Given the description of an element on the screen output the (x, y) to click on. 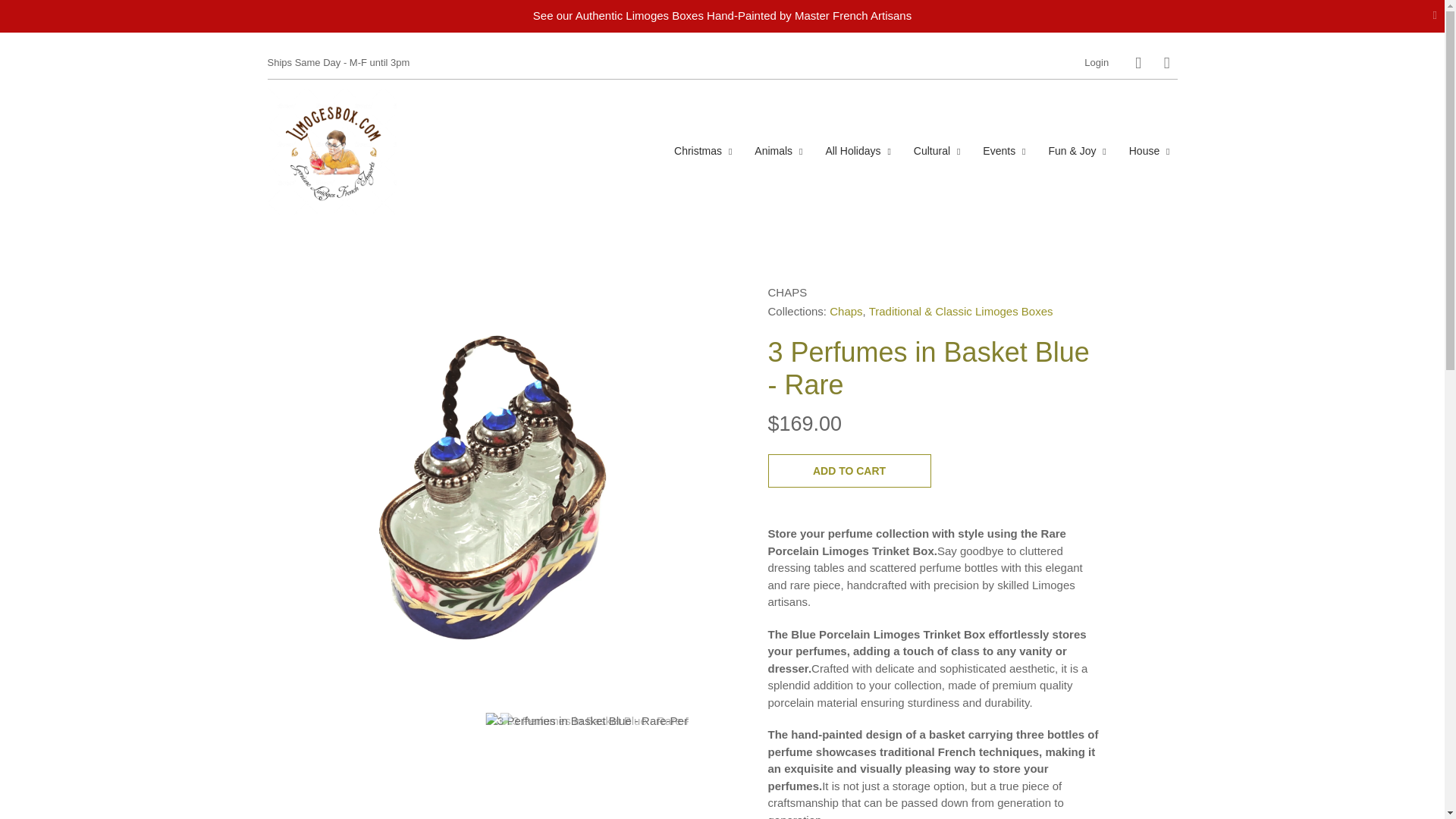
Animals (777, 150)
All Holidays (857, 150)
Login (1096, 61)
Chaps (786, 291)
Chaps (845, 310)
My Account  (1096, 61)
Christmas (702, 150)
Cultural (936, 150)
